Given the description of an element on the screen output the (x, y) to click on. 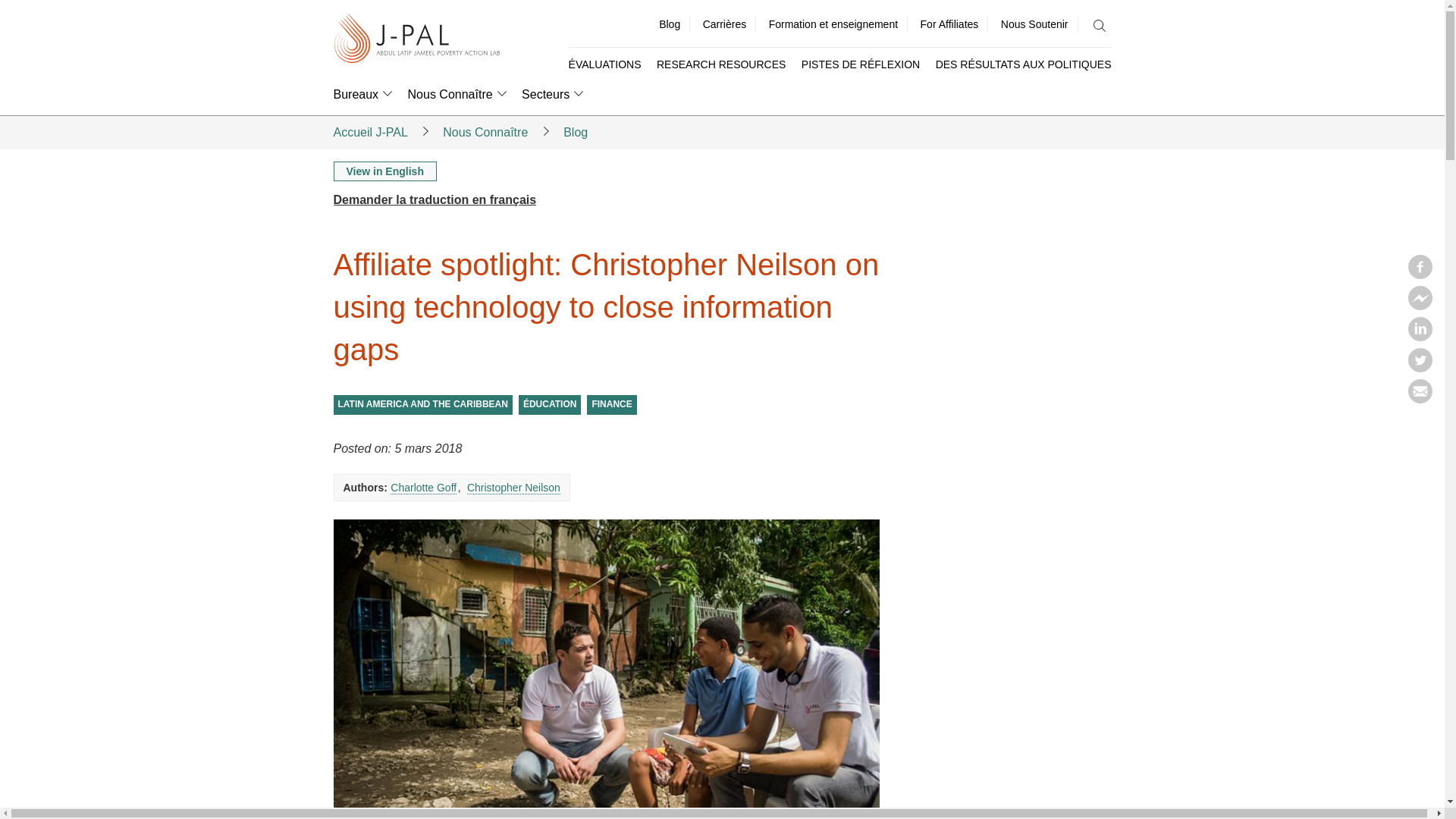
Twitter (1419, 367)
Linkedin (1419, 336)
J-PAL (416, 39)
Facebook (1419, 274)
Email (1419, 399)
Facebook messenger (1419, 305)
